Given the description of an element on the screen output the (x, y) to click on. 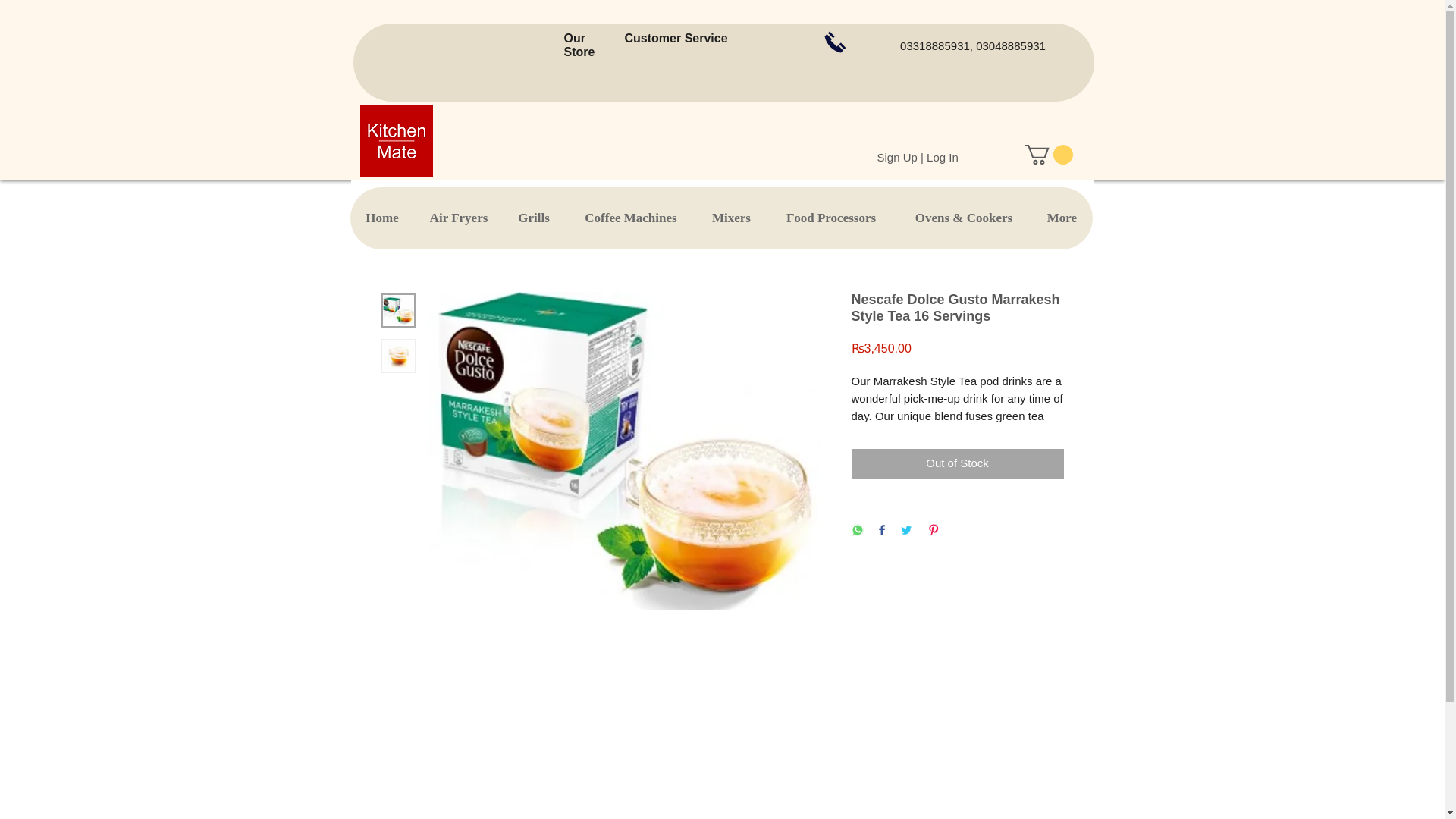
Food Processors (830, 218)
03318885931, 03048885931 (973, 45)
Mixers (730, 218)
Air Fryers (457, 218)
Our Store (579, 44)
Home (382, 218)
Coffee Machines (629, 218)
Out of Stock (956, 463)
Grills (533, 218)
